Given the description of an element on the screen output the (x, y) to click on. 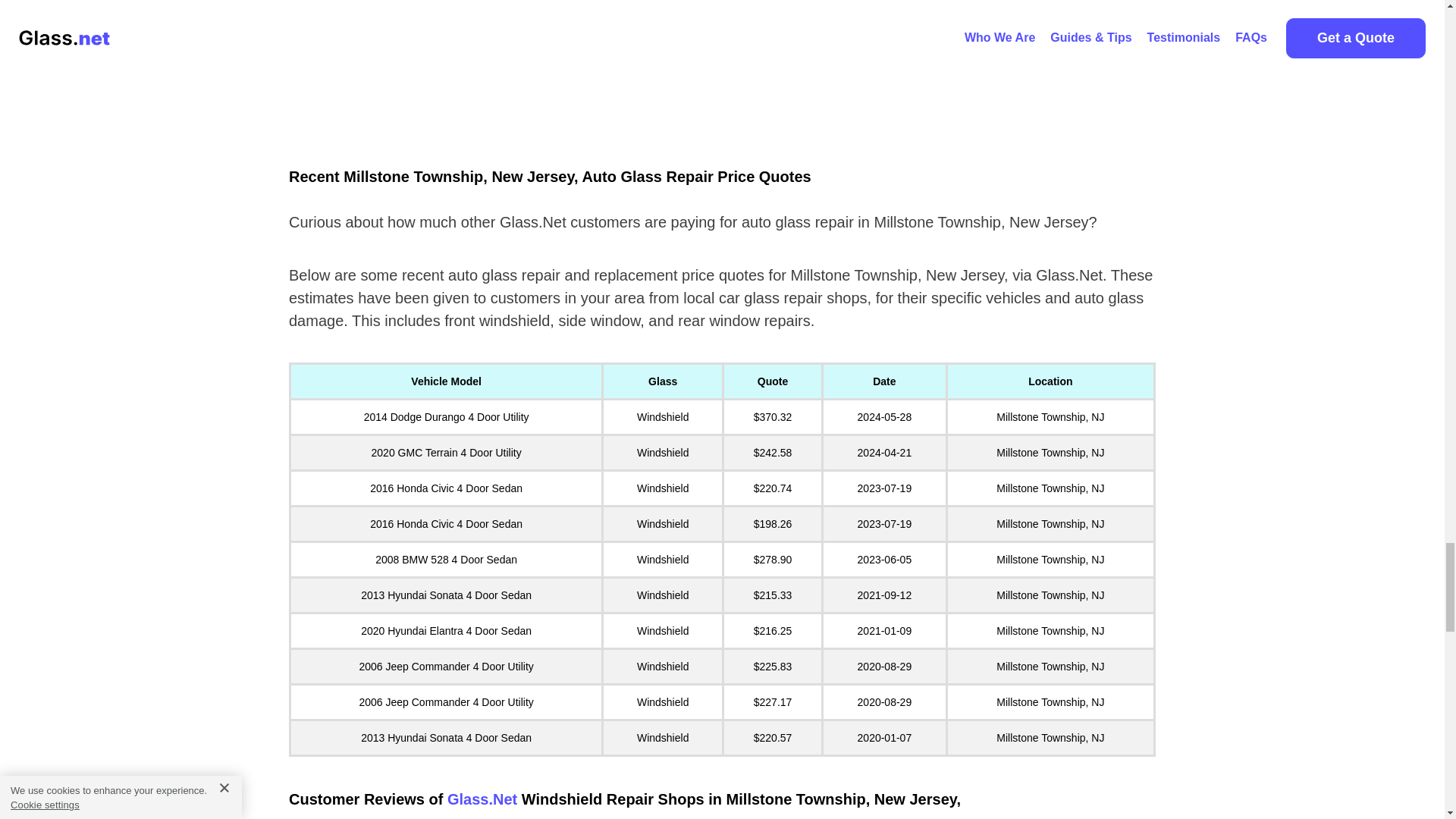
Glass.Net (481, 799)
